Given the description of an element on the screen output the (x, y) to click on. 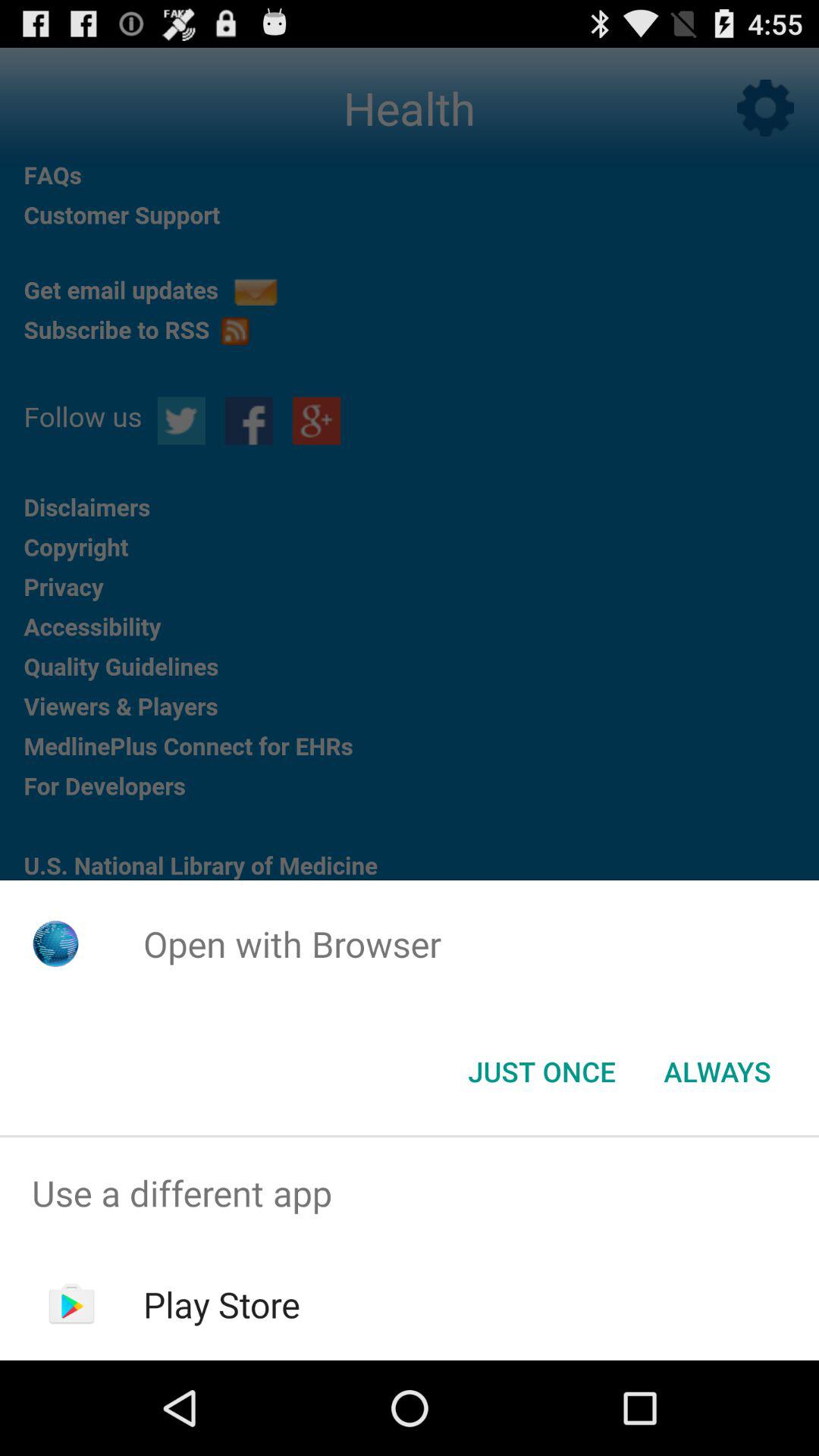
tap play store item (221, 1304)
